Given the description of an element on the screen output the (x, y) to click on. 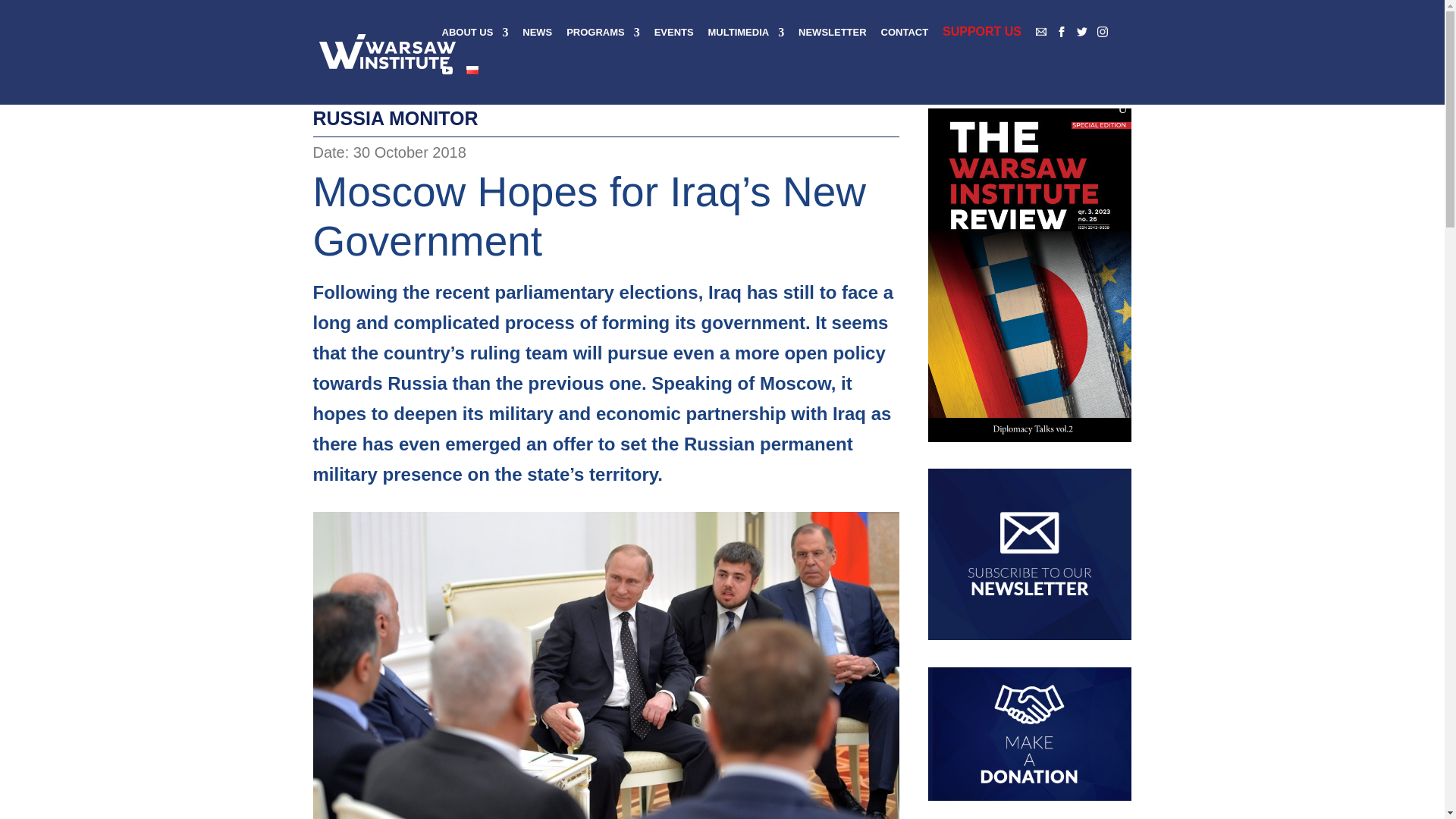
FACEBOOK (1062, 31)
EVENTS (673, 44)
CONTACT (904, 44)
NEWSLETTER (831, 44)
ABOUT US (474, 44)
Polski (472, 70)
MESSAGE US (1040, 31)
PROGRAMS (603, 44)
MULTIMEDIA (745, 44)
INSTAGRAM (1102, 31)
SUPPORT US (982, 44)
TWITTER (1082, 31)
